Given the description of an element on the screen output the (x, y) to click on. 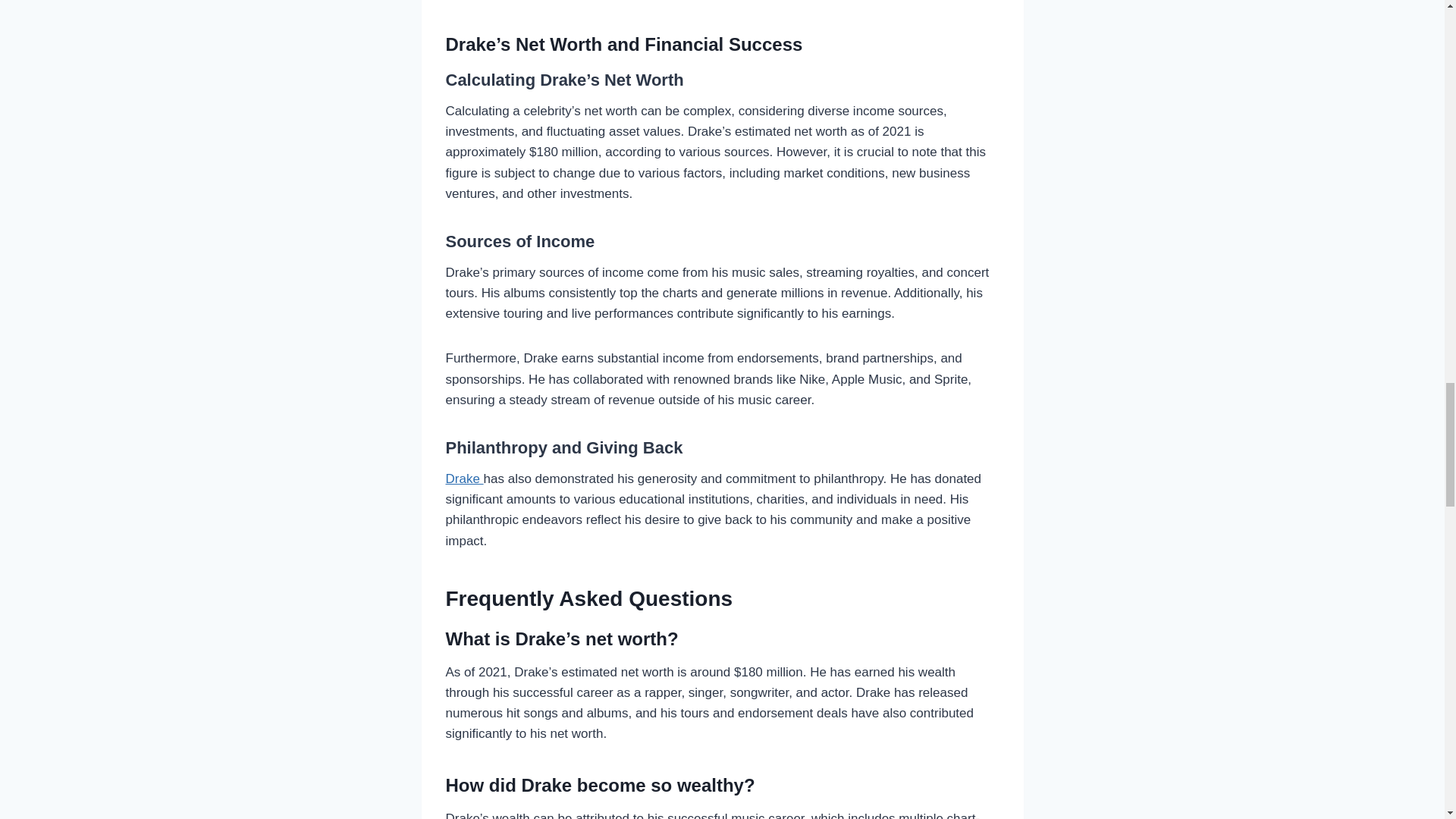
Drake (464, 478)
